Given the description of an element on the screen output the (x, y) to click on. 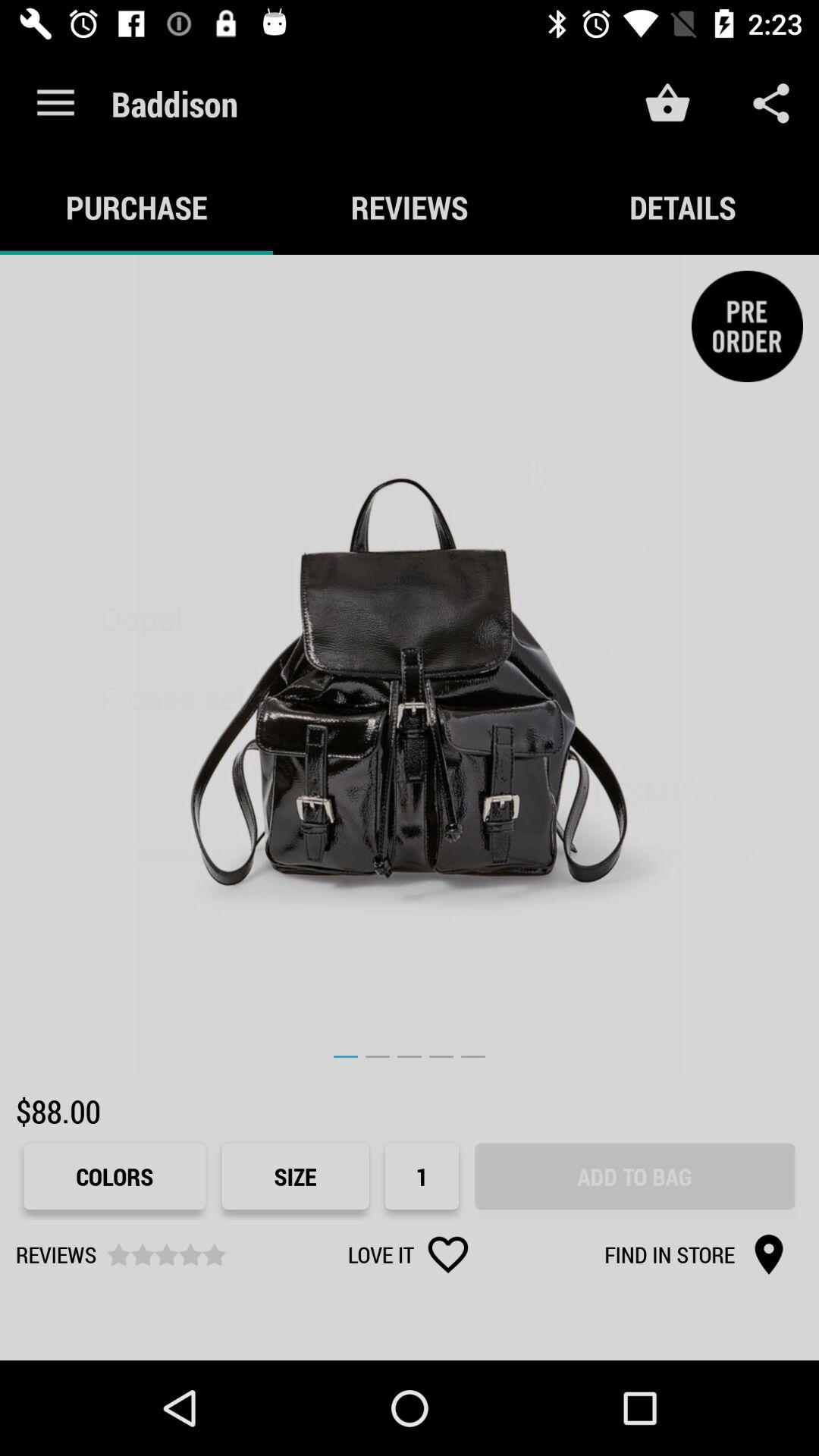
turn on icon below the purchase (409, 663)
